Given the description of an element on the screen output the (x, y) to click on. 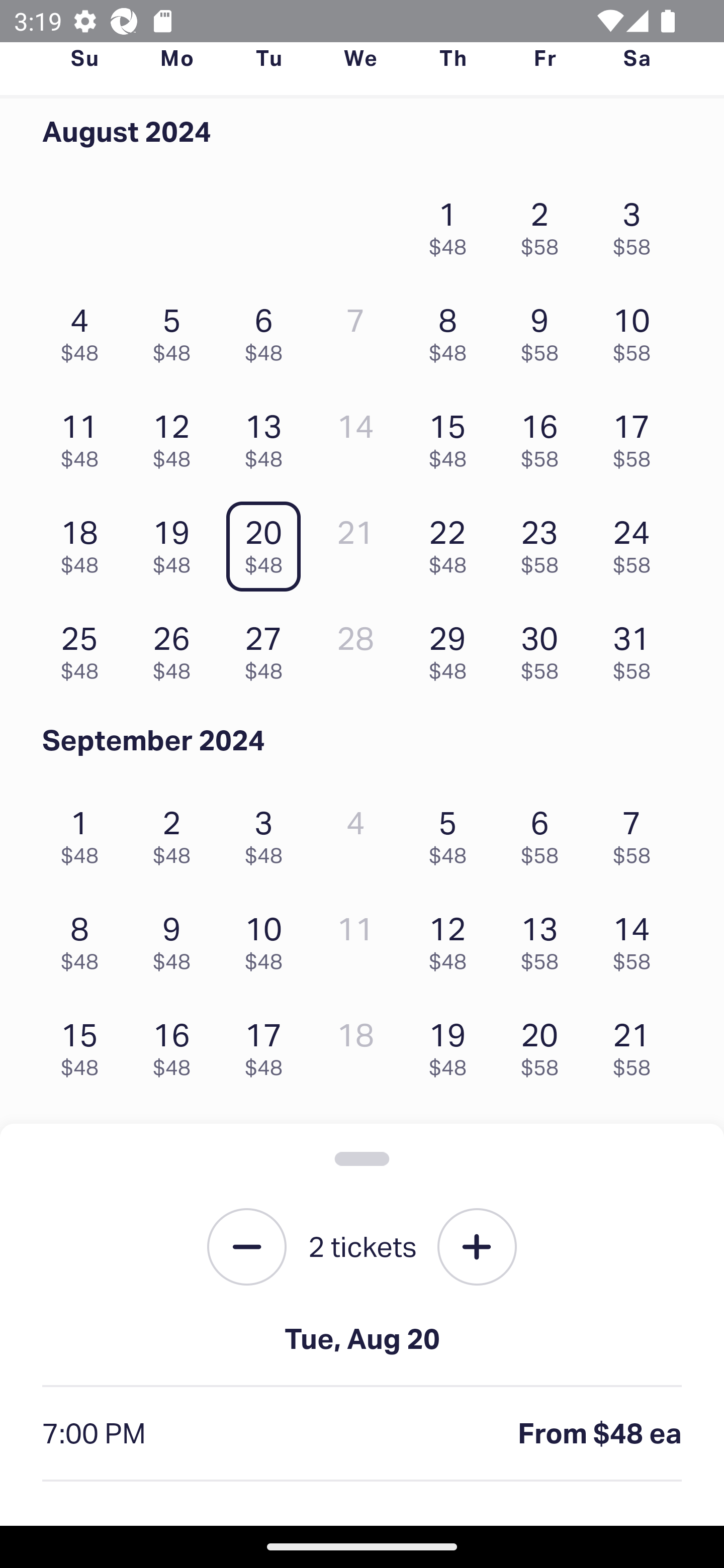
1 $48 (452, 223)
2 $58 (544, 223)
3 $58 (636, 223)
4 $48 (84, 329)
5 $48 (176, 329)
6 $48 (268, 329)
8 $48 (452, 329)
9 $58 (544, 329)
10 $58 (636, 329)
11 $48 (84, 435)
12 $48 (176, 435)
13 $48 (268, 435)
15 $48 (452, 435)
16 $58 (544, 435)
17 $58 (636, 435)
18 $48 (84, 541)
19 $48 (176, 541)
20 $48 (268, 541)
22 $48 (452, 541)
23 $58 (544, 541)
24 $58 (636, 541)
25 $48 (84, 647)
26 $48 (176, 647)
27 $48 (268, 647)
29 $48 (452, 647)
30 $58 (544, 647)
31 $58 (636, 647)
1 $48 (84, 831)
2 $48 (176, 831)
3 $48 (268, 831)
5 $48 (452, 831)
6 $58 (544, 831)
7 $58 (636, 831)
8 $48 (84, 938)
9 $48 (176, 938)
10 $48 (268, 938)
12 $48 (452, 938)
13 $58 (544, 938)
14 $58 (636, 938)
15 $48 (84, 1044)
16 $48 (176, 1044)
17 $48 (268, 1044)
19 $48 (452, 1044)
20 $58 (544, 1044)
21 $58 (636, 1044)
7:00 PM From $48 ea (361, 1434)
